Given the description of an element on the screen output the (x, y) to click on. 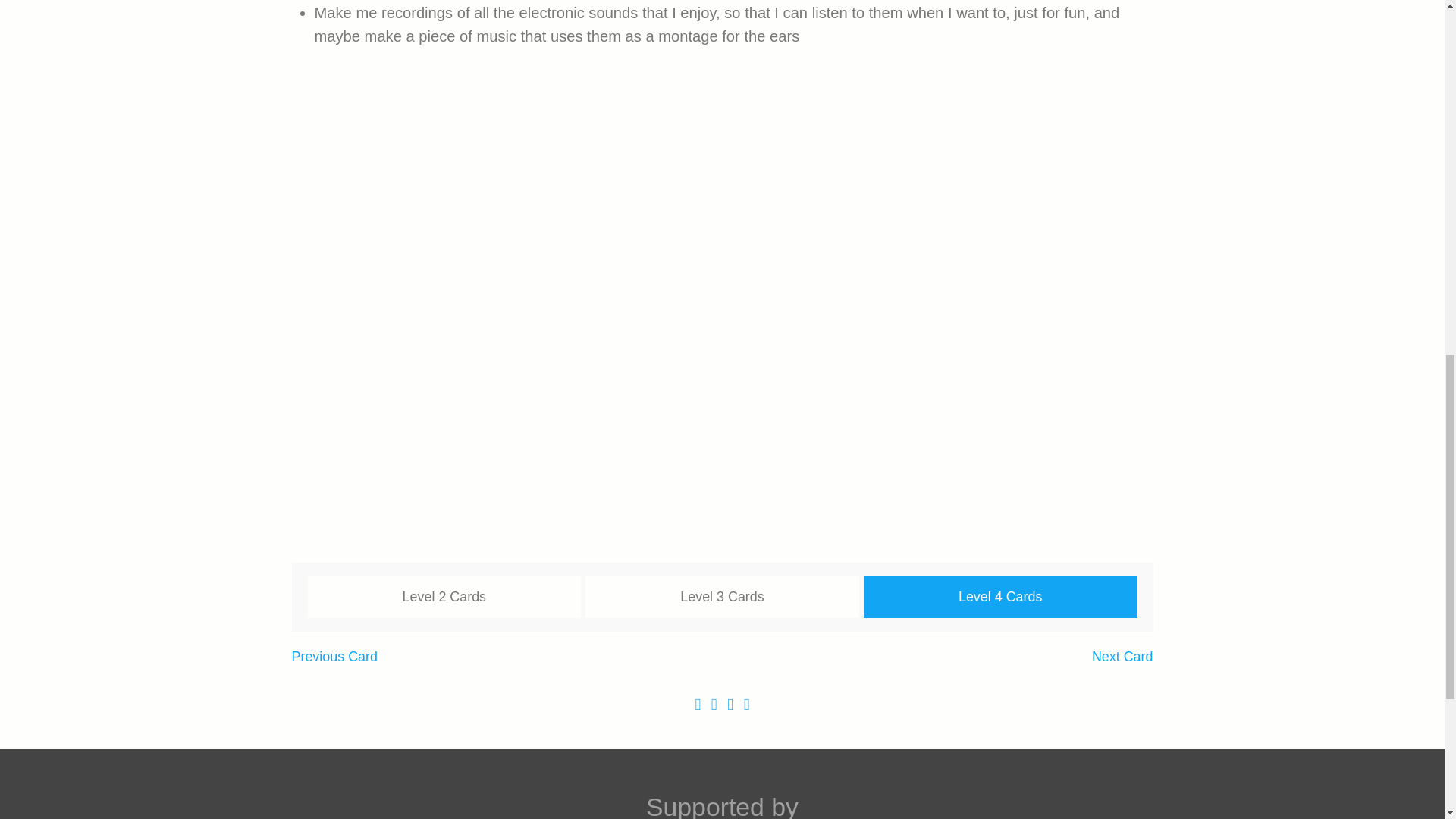
Level 4 Cards (1000, 597)
Previous Card (334, 656)
Level 3 Cards (722, 597)
Level 2 Cards (443, 597)
Next Card (1122, 656)
